Given the description of an element on the screen output the (x, y) to click on. 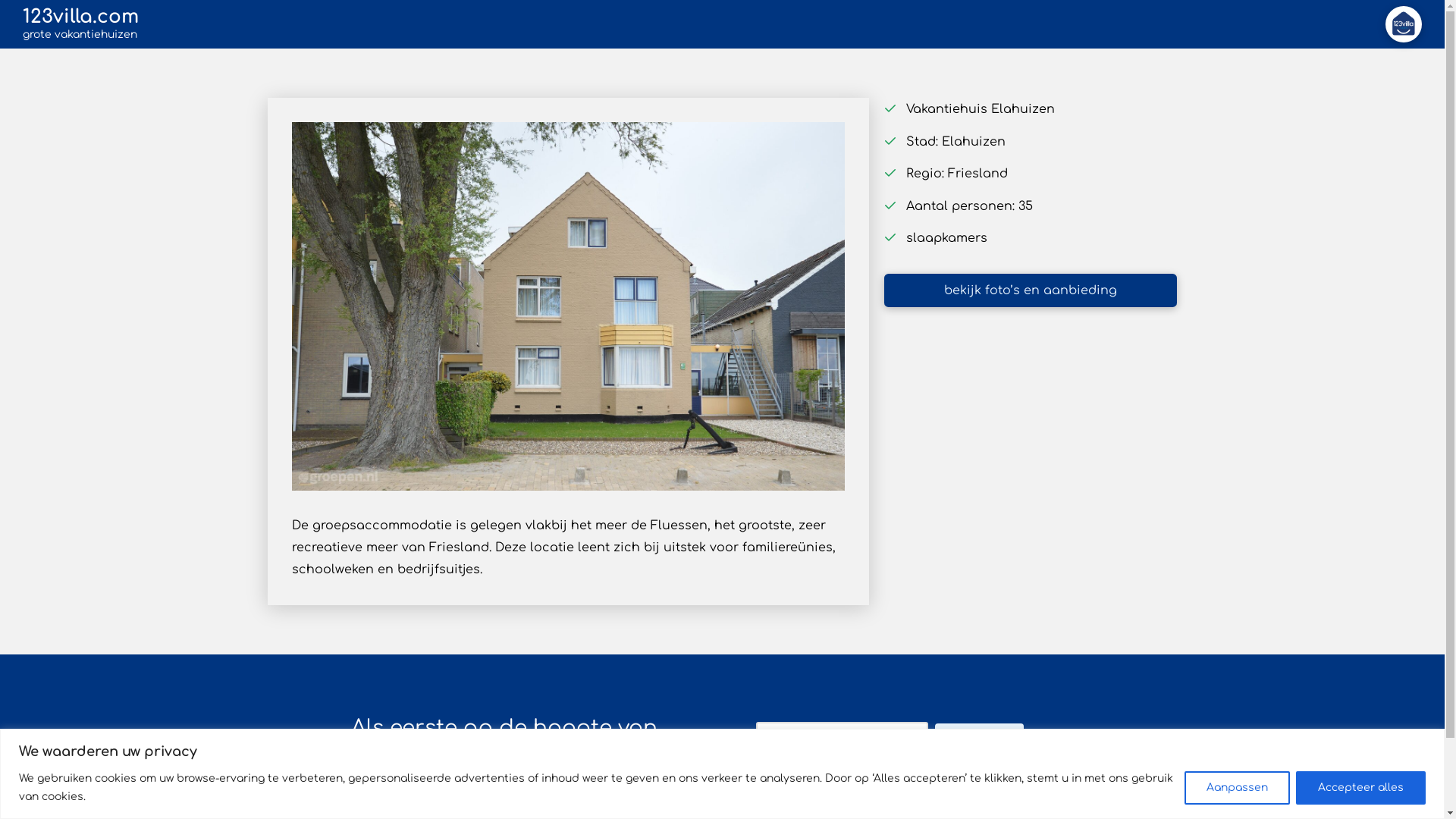
Aanpassen Element type: text (1236, 786)
Accepteer alles Element type: text (1360, 786)
123villa.com
grote vakantiehuizen Element type: text (80, 23)
Back to Top Element type: hover (1423, 797)
Versturen Element type: text (979, 741)
